Given the description of an element on the screen output the (x, y) to click on. 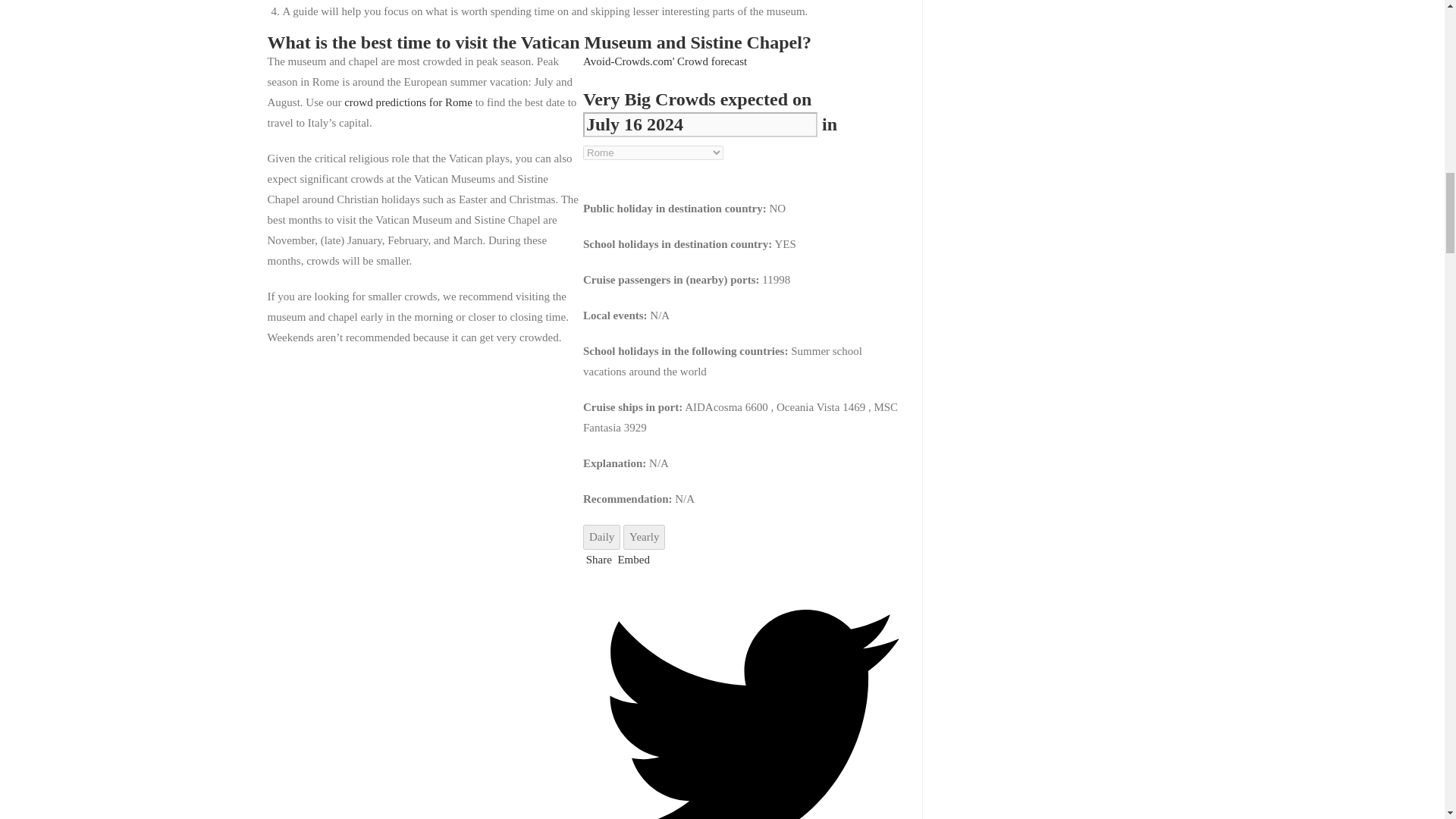
Daily (601, 536)
Share (597, 559)
crowd predictions for Rome (407, 102)
Yearly (644, 536)
July 16 2024 (699, 124)
Avoid-Crowds.com' Crowd forecast (664, 61)
